Given the description of an element on the screen output the (x, y) to click on. 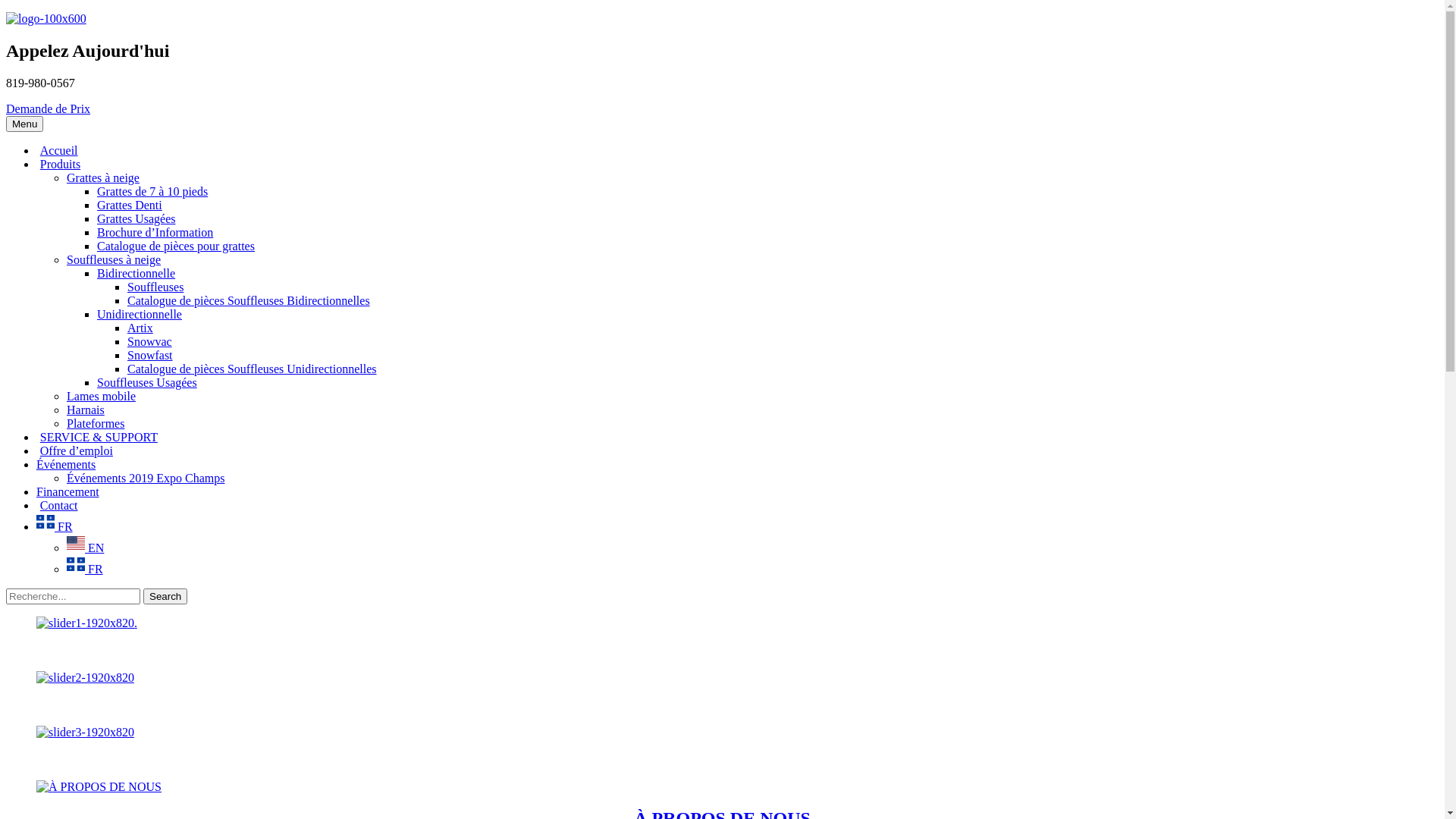
FR Element type: text (54, 526)
Harnais Element type: text (85, 409)
Search Element type: text (5, 587)
Search for: Element type: hover (73, 596)
SERVICE & SUPPORT Element type: text (96, 436)
Search Element type: text (165, 596)
Bidirectionnelle Element type: text (136, 272)
Grattes Denti Element type: text (129, 204)
Snowfast Element type: text (149, 354)
Snowvac Element type: text (149, 341)
Demande de Prix Element type: text (48, 108)
Produits Element type: text (58, 163)
Contact Element type: text (57, 504)
Financement Element type: text (67, 491)
Unidirectionnelle Element type: text (139, 313)
EN Element type: text (84, 547)
Menu Element type: text (24, 123)
Plateformes Element type: text (95, 423)
Souffleuses Element type: text (155, 286)
Artix Element type: text (140, 327)
Accueil Element type: text (57, 150)
Lames mobile Element type: text (100, 395)
FR Element type: text (84, 568)
